Given the description of an element on the screen output the (x, y) to click on. 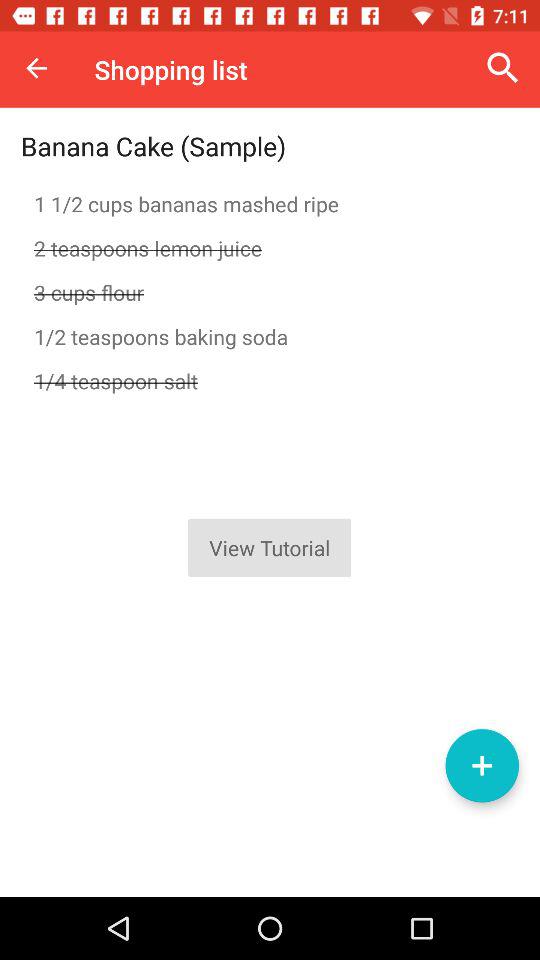
click item above the banana cake (sample) item (36, 68)
